Given the description of an element on the screen output the (x, y) to click on. 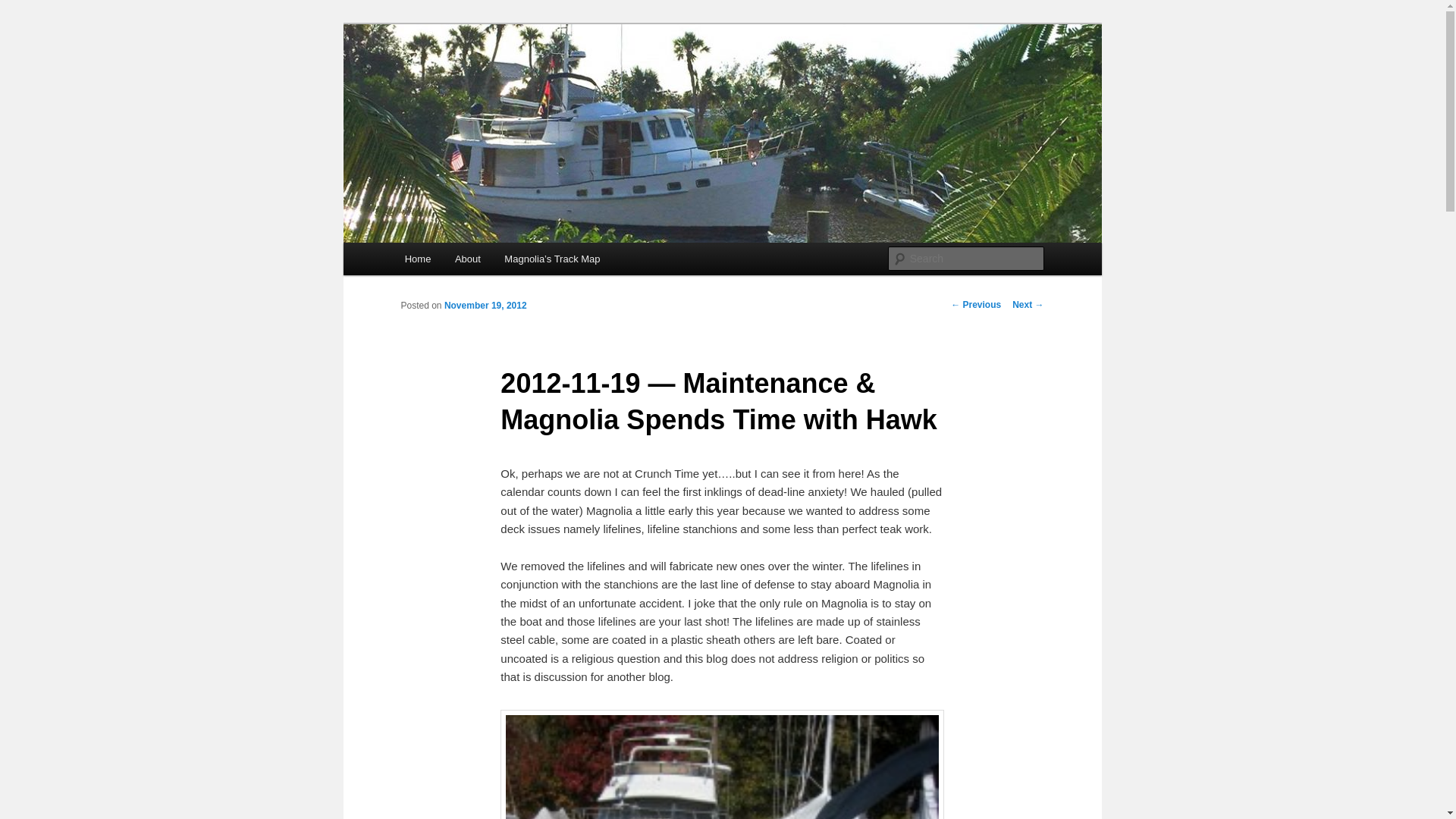
Home (417, 258)
Search (24, 8)
11:16 am (485, 305)
About (467, 258)
November 19, 2012 (485, 305)
